Given the description of an element on the screen output the (x, y) to click on. 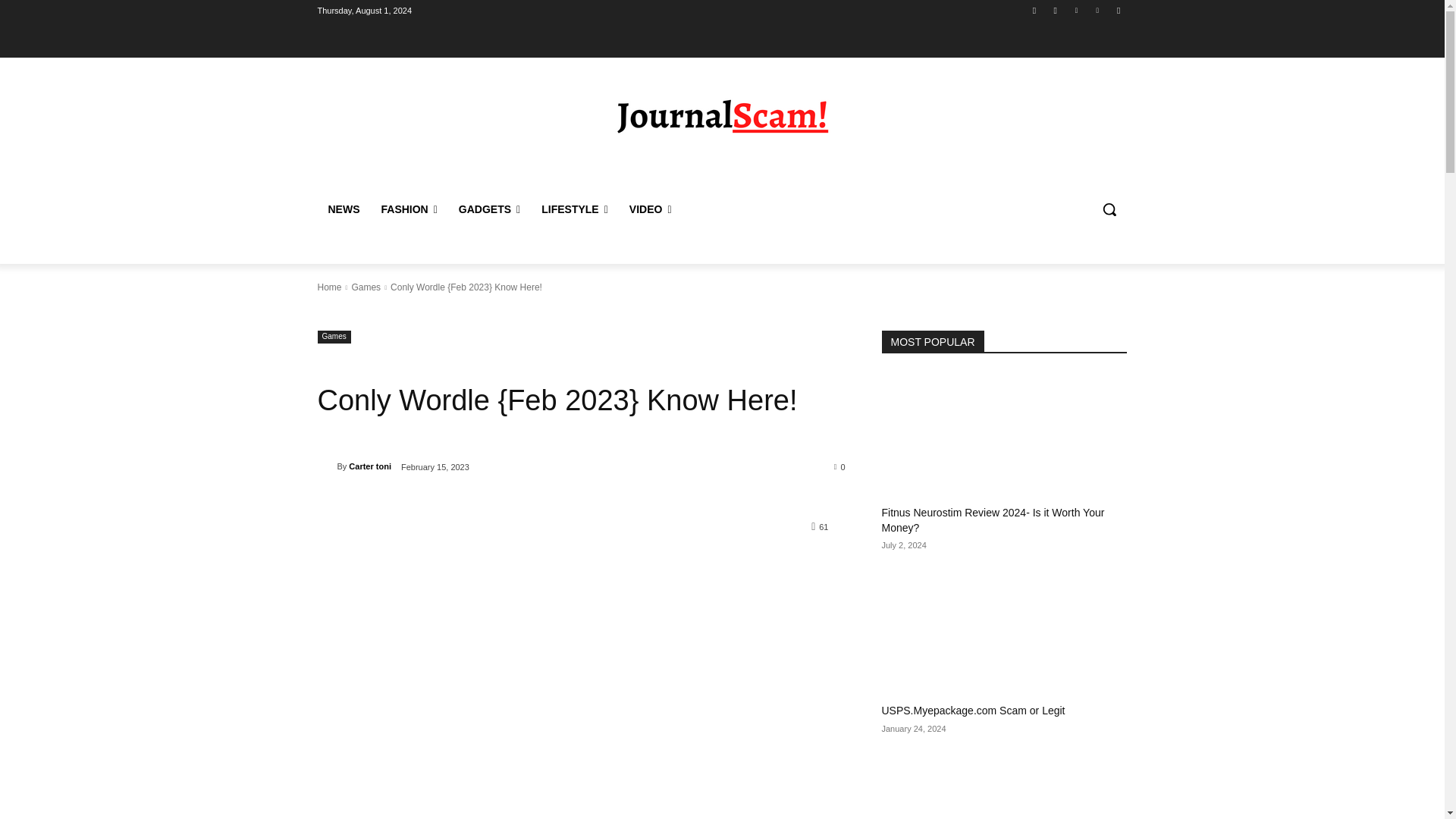
Vimeo (1097, 9)
Youtube (1117, 9)
Facebook (1034, 9)
NEWS (343, 208)
FASHION (407, 208)
Instagram (1055, 9)
Twitter (1075, 9)
